Given the description of an element on the screen output the (x, y) to click on. 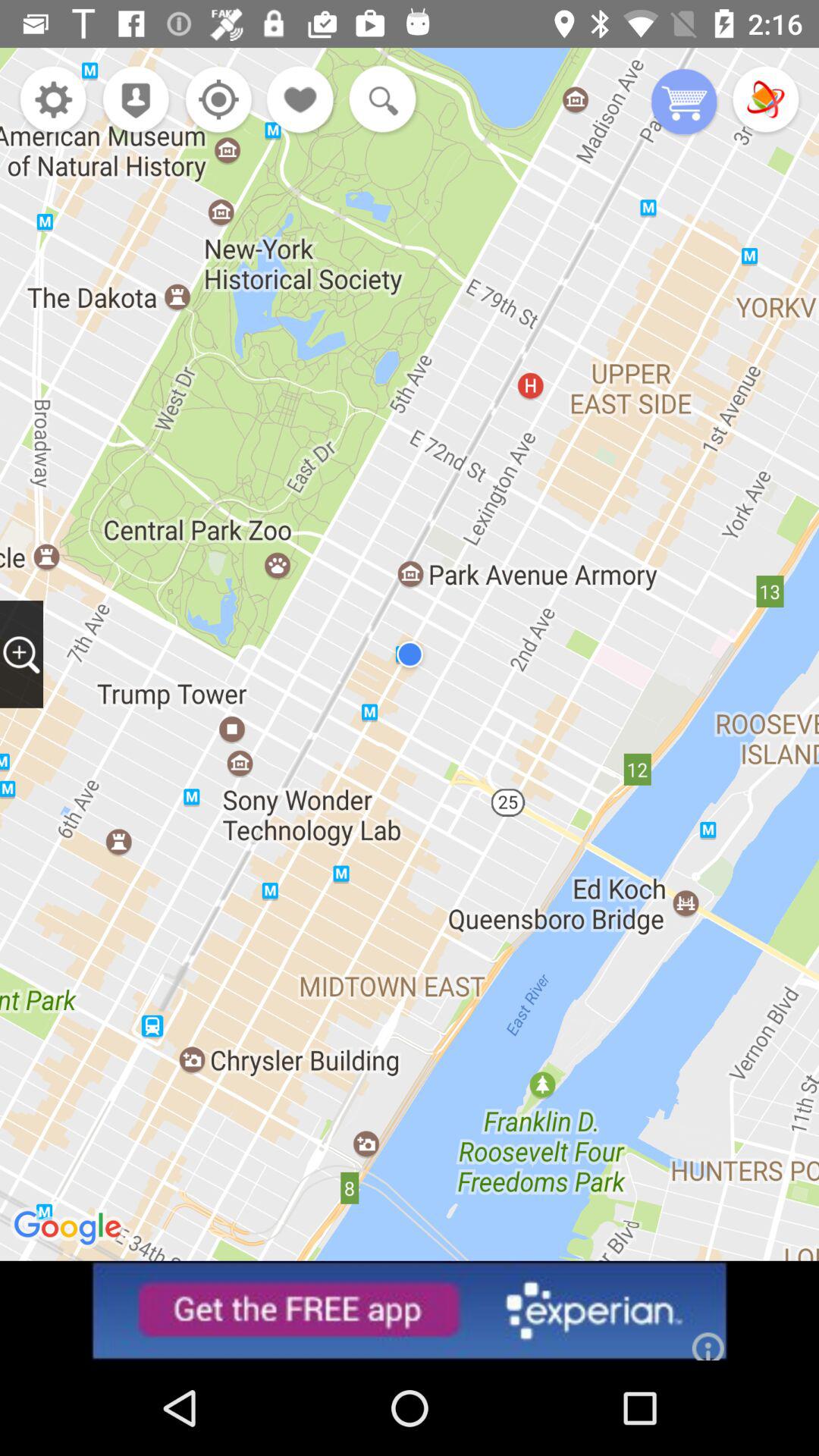
zooming the location (21, 654)
